Given the description of an element on the screen output the (x, y) to click on. 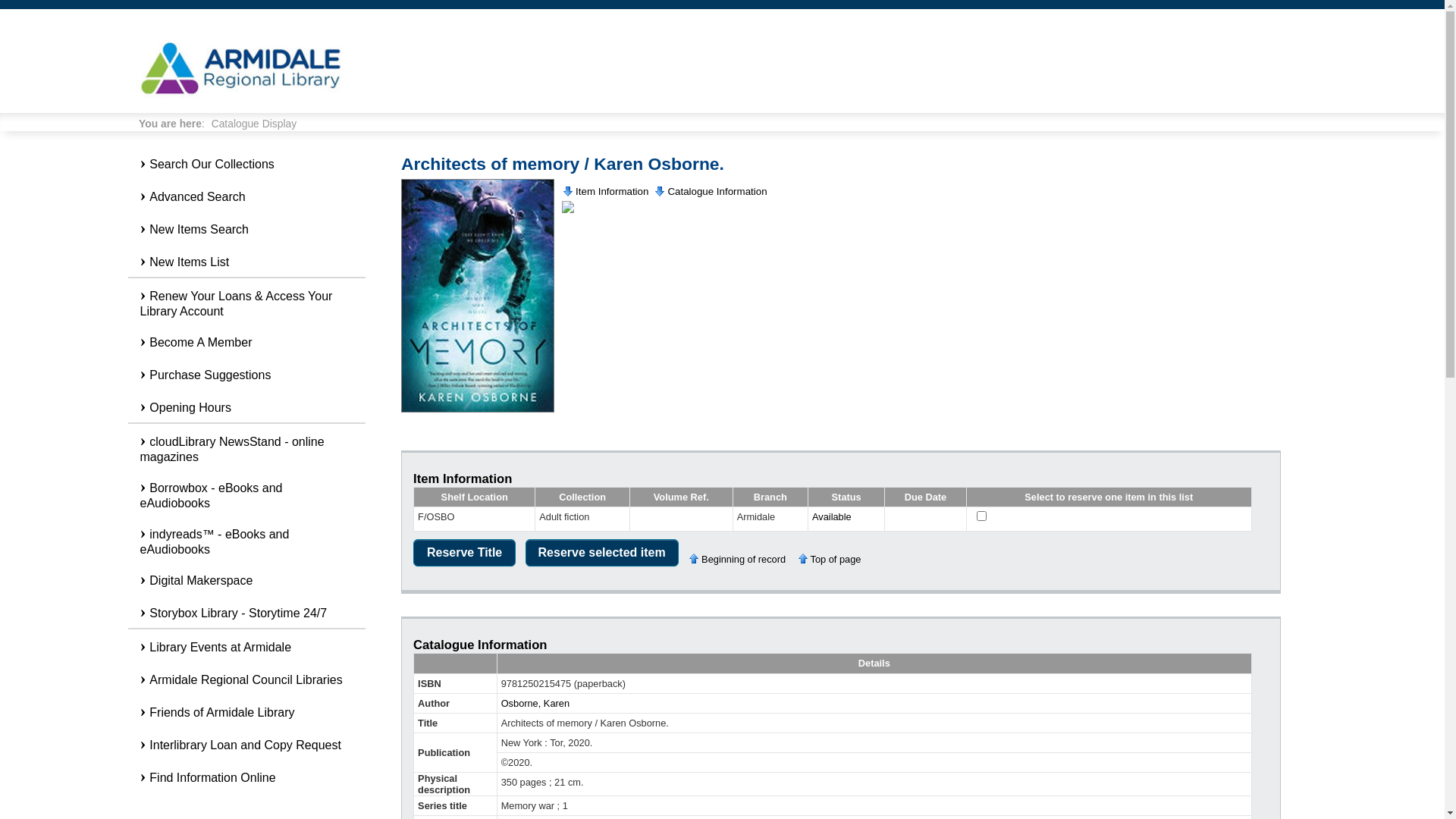
Architects of memory / Karen Osborne. Element type: text (562, 163)
Item Information Element type: text (605, 191)
Reserve Title Element type: text (464, 552)
Renew Your Loans & Access Your Library Account Element type: text (246, 301)
Interlibrary Loan and Copy Request Element type: text (246, 743)
Purchase Suggestions Element type: text (246, 373)
cloudLibrary NewsStand - online magazines Element type: text (246, 446)
Find Information Online Element type: text (246, 775)
Storybox Library - Storytime 24/7 Element type: text (246, 611)
New Items List Element type: text (246, 260)
Osborne, Karen Element type: text (535, 703)
Become A Member Element type: text (246, 340)
Catalogue Information Element type: text (479, 644)
Item Information Element type: text (462, 478)
Reserve selected item Element type: text (601, 552)
Opening Hours Element type: text (246, 405)
New Items Search Element type: text (246, 227)
Armidale Dumaresq Council War Memorial Library Element type: hover (240, 68)
Available Element type: text (831, 516)
Digital Makerspace Element type: text (246, 578)
Borrowbox - eBooks and eAudiobooks Element type: text (246, 493)
Library Events at Armidale Element type: text (246, 645)
Architects of memory / Karen Osborne. Element type: hover (477, 295)
Advanced Search Element type: text (246, 194)
Beginning of record Element type: text (740, 559)
Friends of Armidale Library Element type: text (246, 710)
Top of page Element type: text (833, 559)
Catalogue Information Element type: text (710, 191)
Armidale Regional Council Libraries Element type: text (246, 678)
Search Our Collections Element type: text (246, 162)
